Given the description of an element on the screen output the (x, y) to click on. 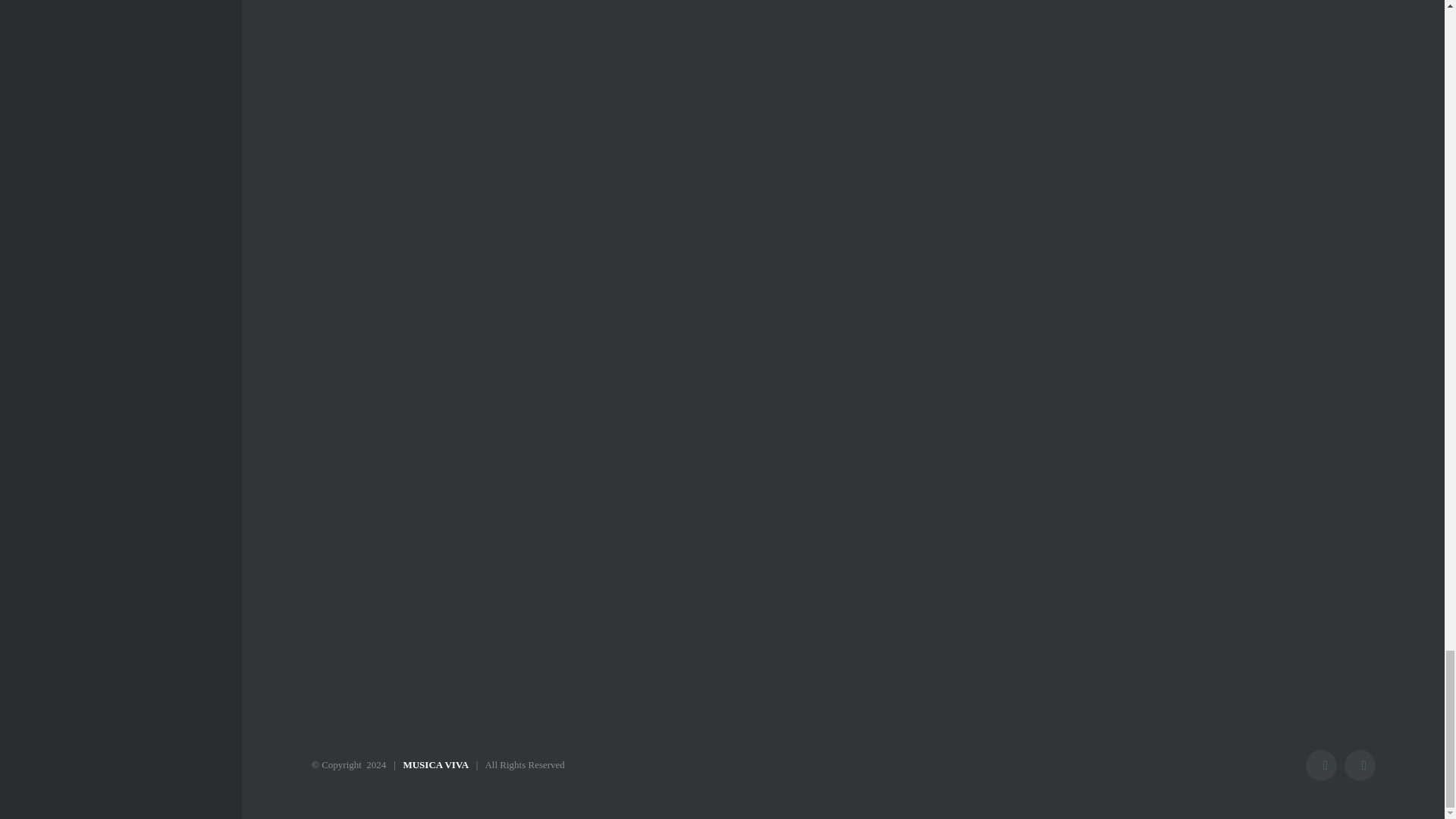
Facebook (1321, 765)
Facebook (1321, 765)
Vimeo (1359, 765)
Vimeo (1359, 765)
